Given the description of an element on the screen output the (x, y) to click on. 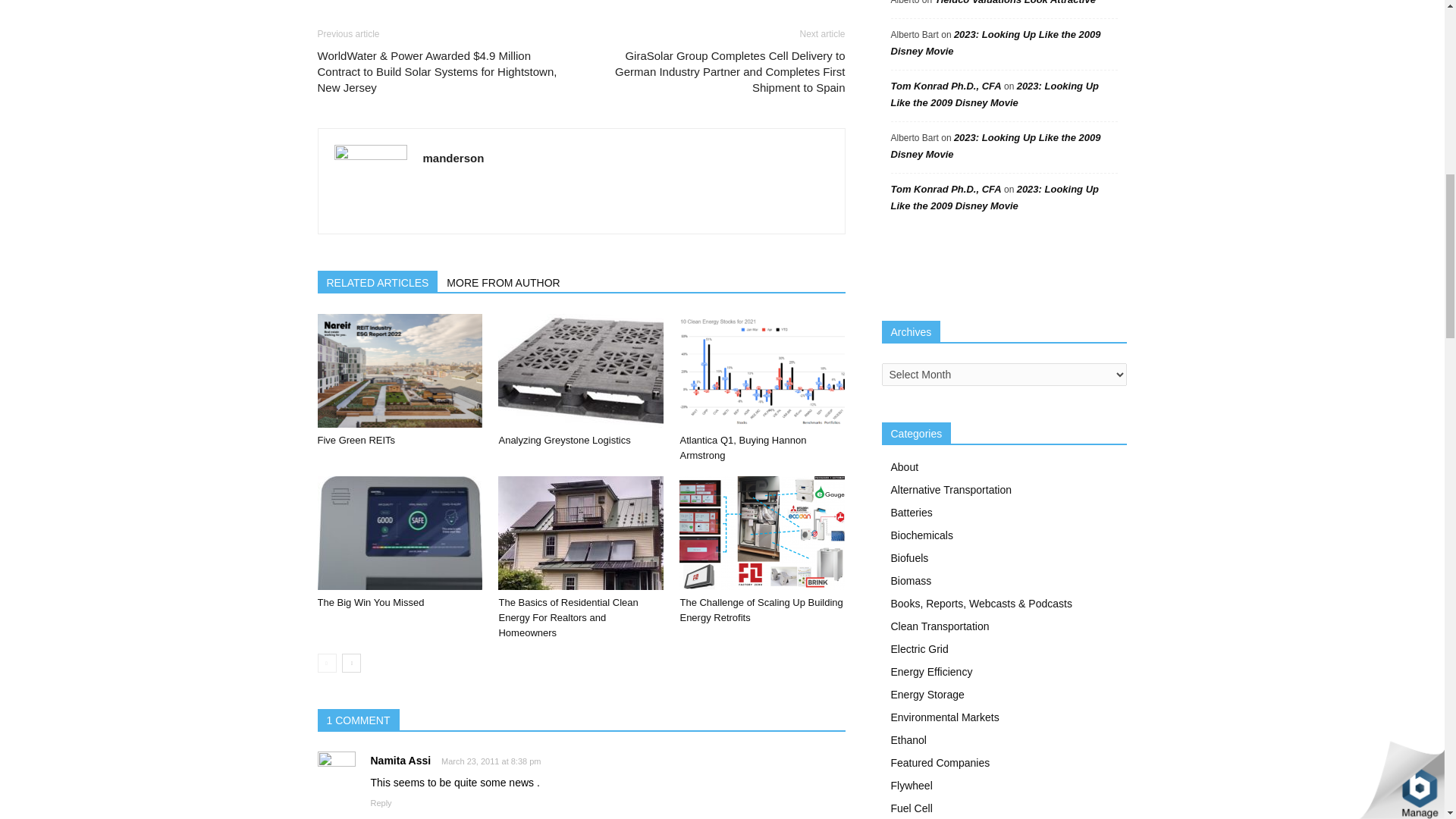
Five Green REITs (355, 439)
Analyzing Greystone Logistics (580, 370)
Analyzing Greystone Logistics (563, 439)
Five Green REITs (399, 370)
